Given the description of an element on the screen output the (x, y) to click on. 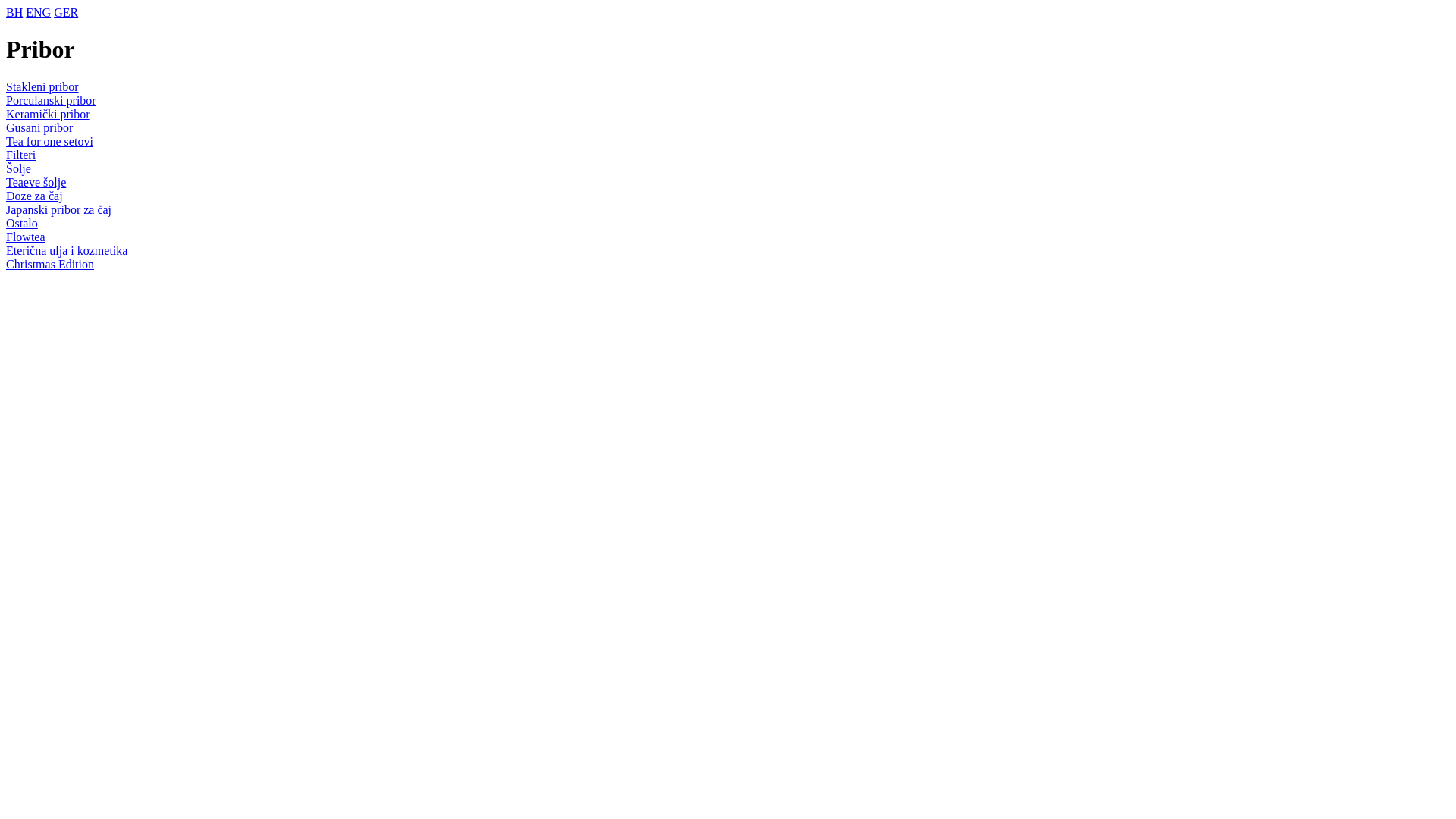
Filteri Element type: text (20, 154)
Christmas Edition Element type: text (50, 263)
Ostalo Element type: text (21, 222)
Flowtea Element type: text (25, 236)
Porculanski pribor Element type: text (51, 100)
BH Element type: text (14, 12)
Tea for one setovi Element type: text (49, 140)
Gusani pribor Element type: text (39, 127)
Stakleni pribor Element type: text (42, 86)
GER Element type: text (65, 12)
ENG Element type: text (37, 12)
